Given the description of an element on the screen output the (x, y) to click on. 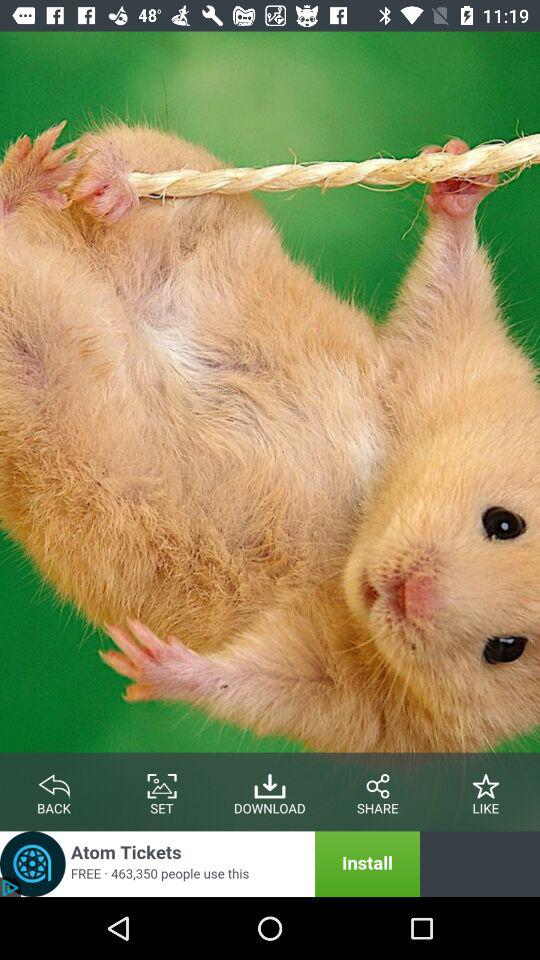
download key (269, 782)
